Given the description of an element on the screen output the (x, y) to click on. 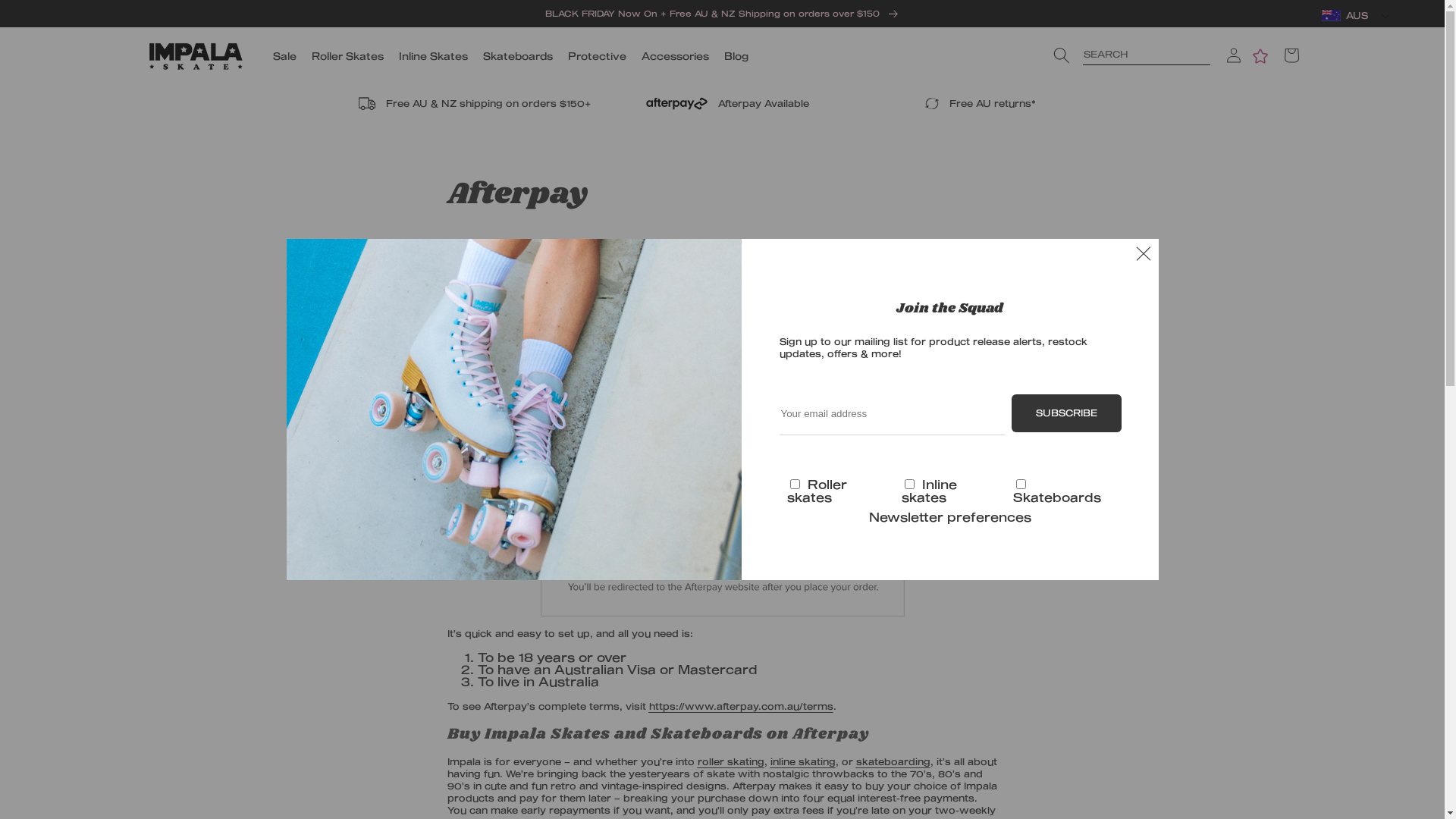
Roller Skates Element type: text (574, 325)
Blog Element type: text (736, 55)
https://www.afterpay.com.au/terms Element type: text (741, 705)
Roller Skates Element type: text (347, 55)
roller skating Element type: text (730, 761)
Log in Element type: text (1233, 55)
inline skating Element type: text (802, 761)
Accessories Element type: text (674, 55)
SUBSCRIBE Element type: text (1065, 413)
Inline Skates Element type: text (433, 55)
Skateboard Element type: text (644, 325)
Inline Skates Element type: text (711, 325)
Sale Element type: text (284, 55)
Cart Element type: text (1290, 55)
Skateboards Element type: text (517, 55)
Protective Element type: text (596, 55)
skateboarding Element type: text (892, 761)
Protective Gear Element type: text (801, 325)
